Given the description of an element on the screen output the (x, y) to click on. 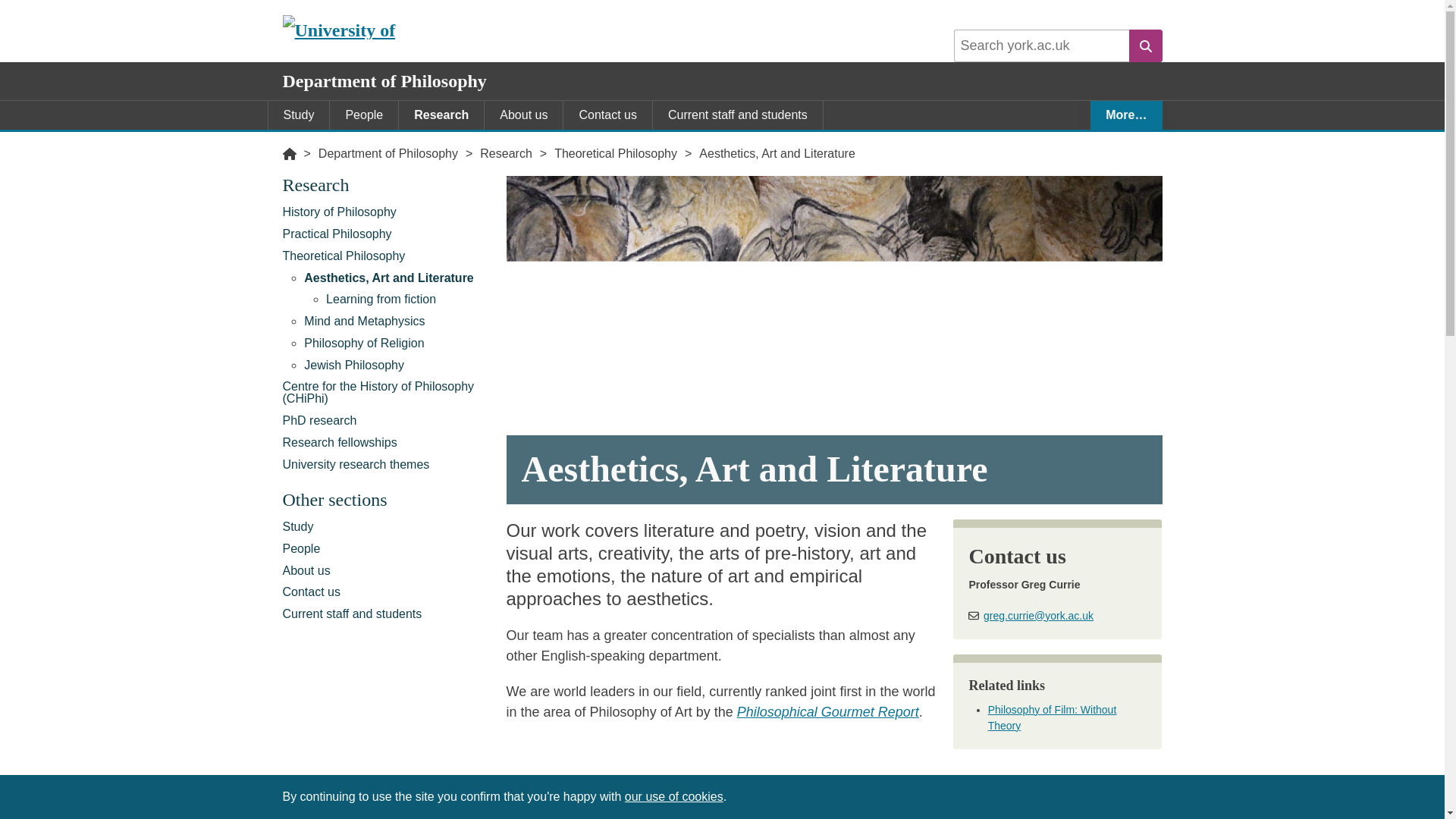
Theoretical Philosophy (615, 153)
Contact us (606, 114)
Mind and Metaphysics (397, 321)
Research (386, 188)
Study (298, 114)
Department of Philosophy (388, 153)
Theoretical Philosophy (386, 255)
Research (505, 153)
Research (440, 114)
People (363, 114)
